Given the description of an element on the screen output the (x, y) to click on. 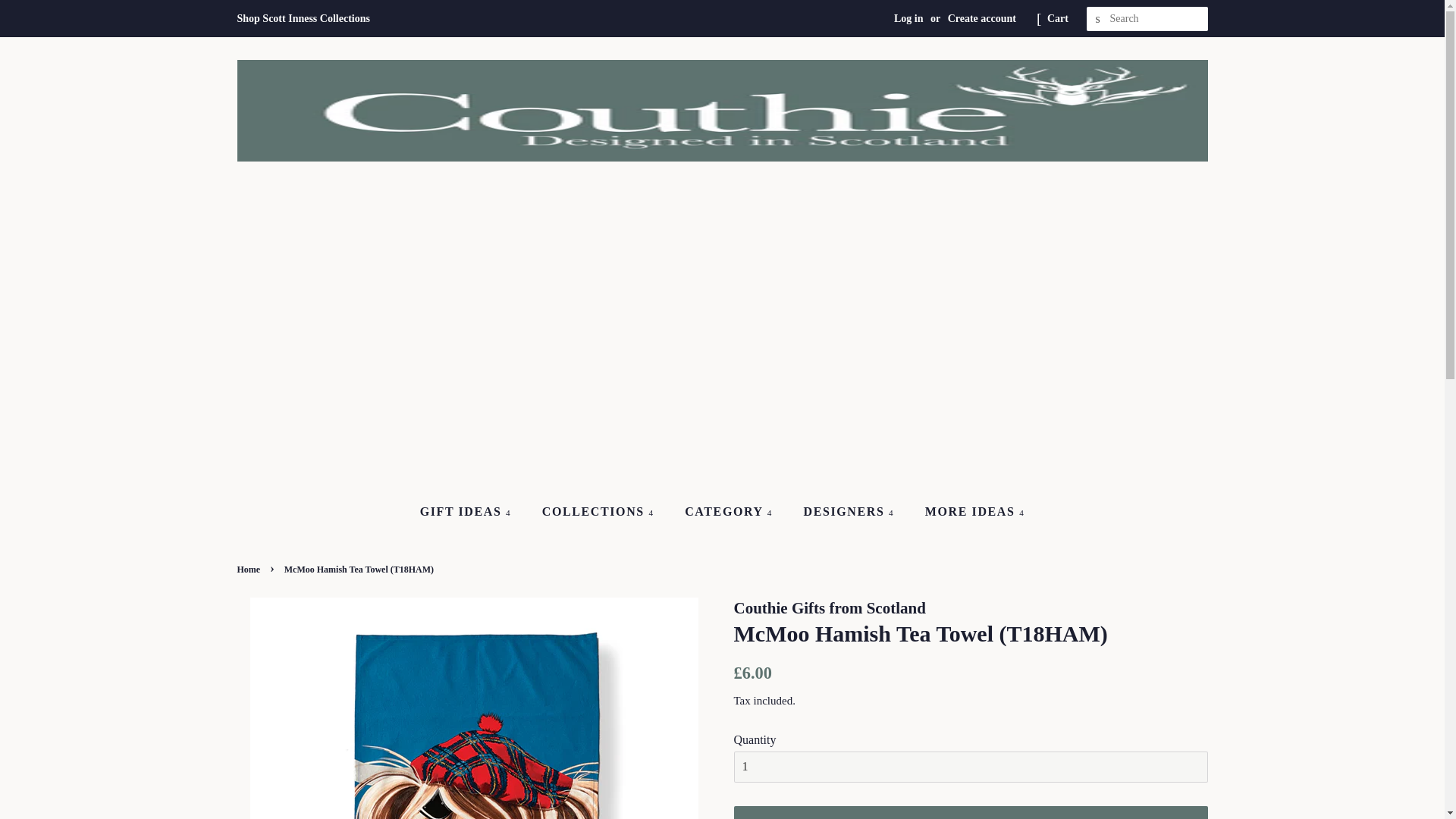
Cart (1057, 18)
Create account (981, 18)
Back to the frontpage (249, 569)
SEARCH (1097, 18)
Shop Scott Inness Collections (302, 18)
Log in (908, 18)
1 (970, 766)
